Given the description of an element on the screen output the (x, y) to click on. 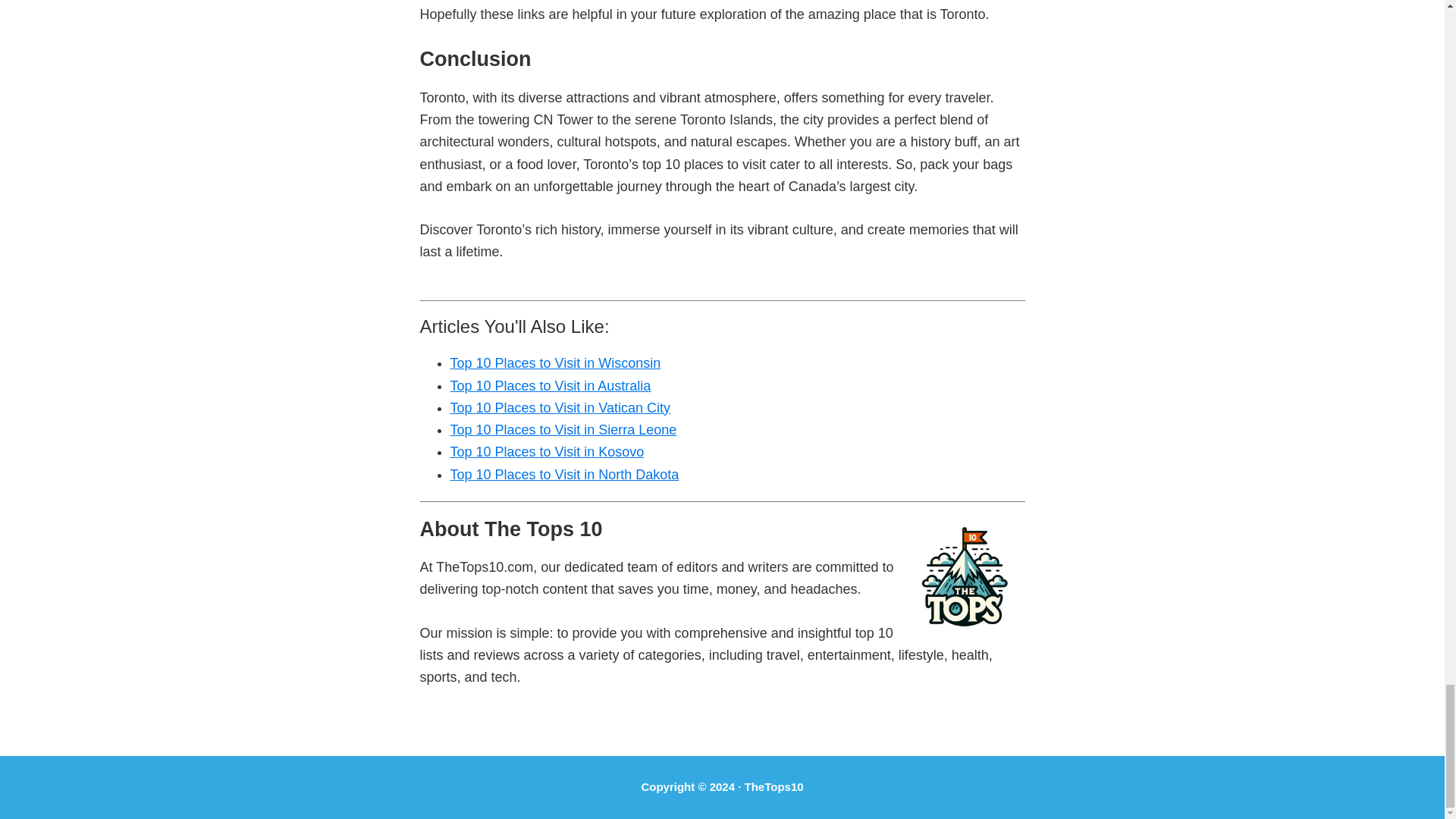
Top 10 Places to Visit in Vatican City (559, 407)
Link to Top 10 Places to Visit in Vatican City (559, 407)
Top 10 Places to Visit in North Dakota (564, 474)
Top 10 Places to Visit in Australia (549, 385)
Link to Top 10 Places to Visit in Australia (549, 385)
Top 10 Places to Visit in Kosovo (547, 451)
Link to Top 10 Places to Visit in North Dakota (564, 474)
Link to Top 10 Places to Visit in Kosovo (547, 451)
Top 10 Places to Visit in Sierra Leone (563, 429)
Link to Top 10 Places to Visit in Wisconsin (555, 363)
